Given the description of an element on the screen output the (x, y) to click on. 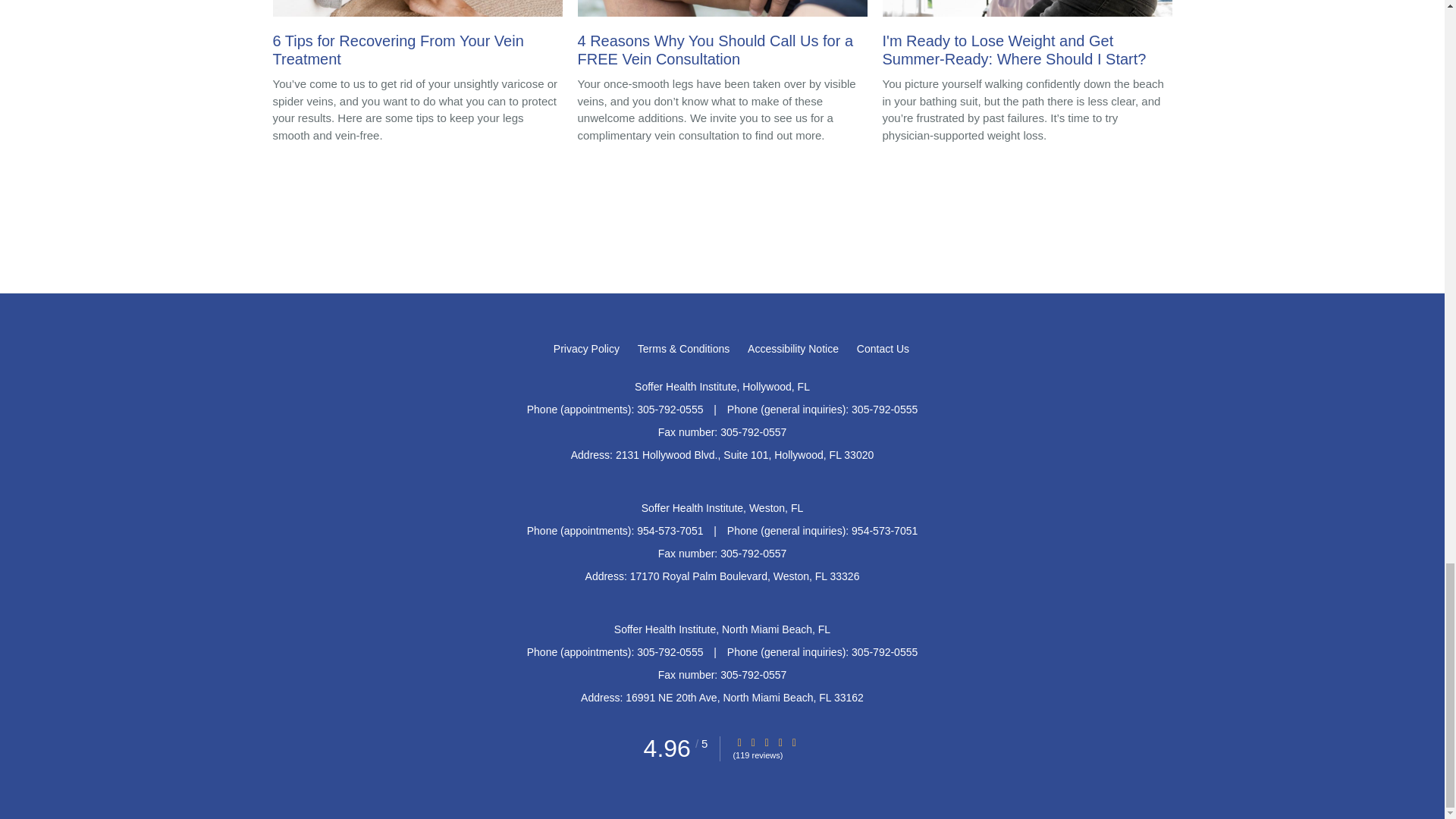
Star Rating (780, 742)
Star Rating (753, 742)
Star Rating (794, 742)
Star Rating (738, 742)
6 Tips for Recovering From Your Vein Treatment (417, 38)
Star Rating (766, 742)
